Given the description of an element on the screen output the (x, y) to click on. 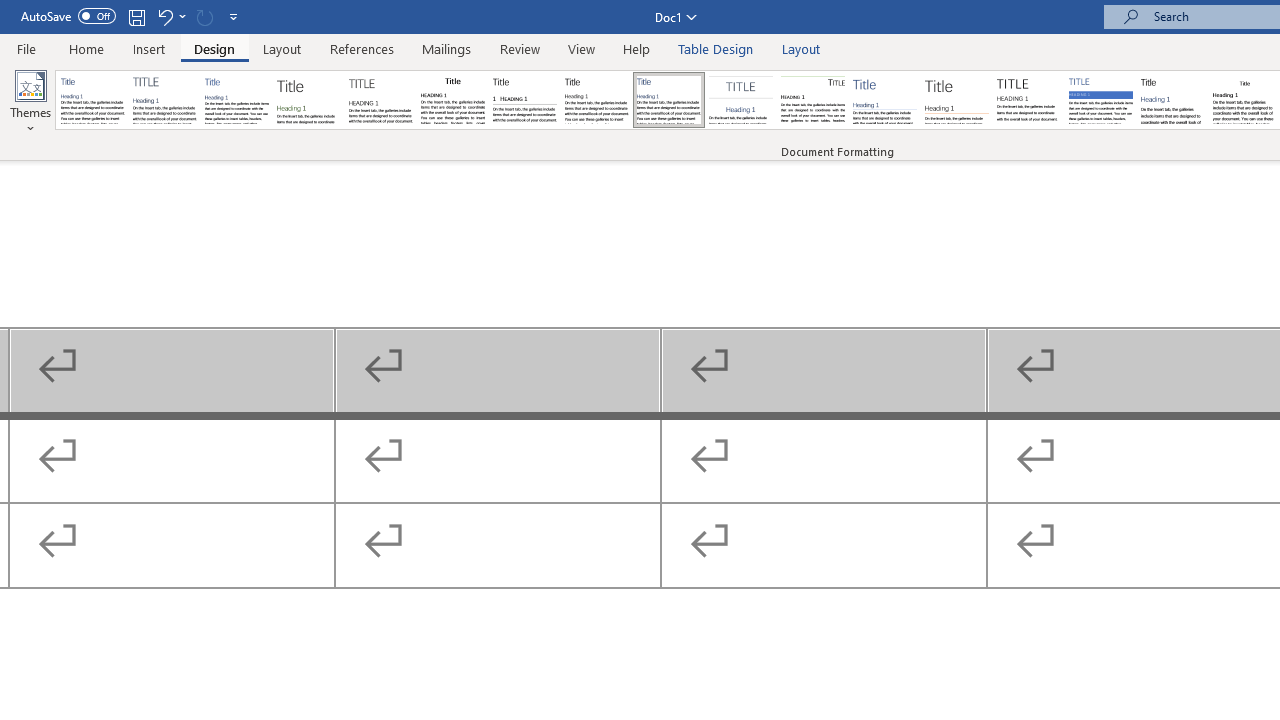
Word (1172, 100)
Undo Outline Move Up (170, 15)
Basic (Stylish) (308, 100)
